Given the description of an element on the screen output the (x, y) to click on. 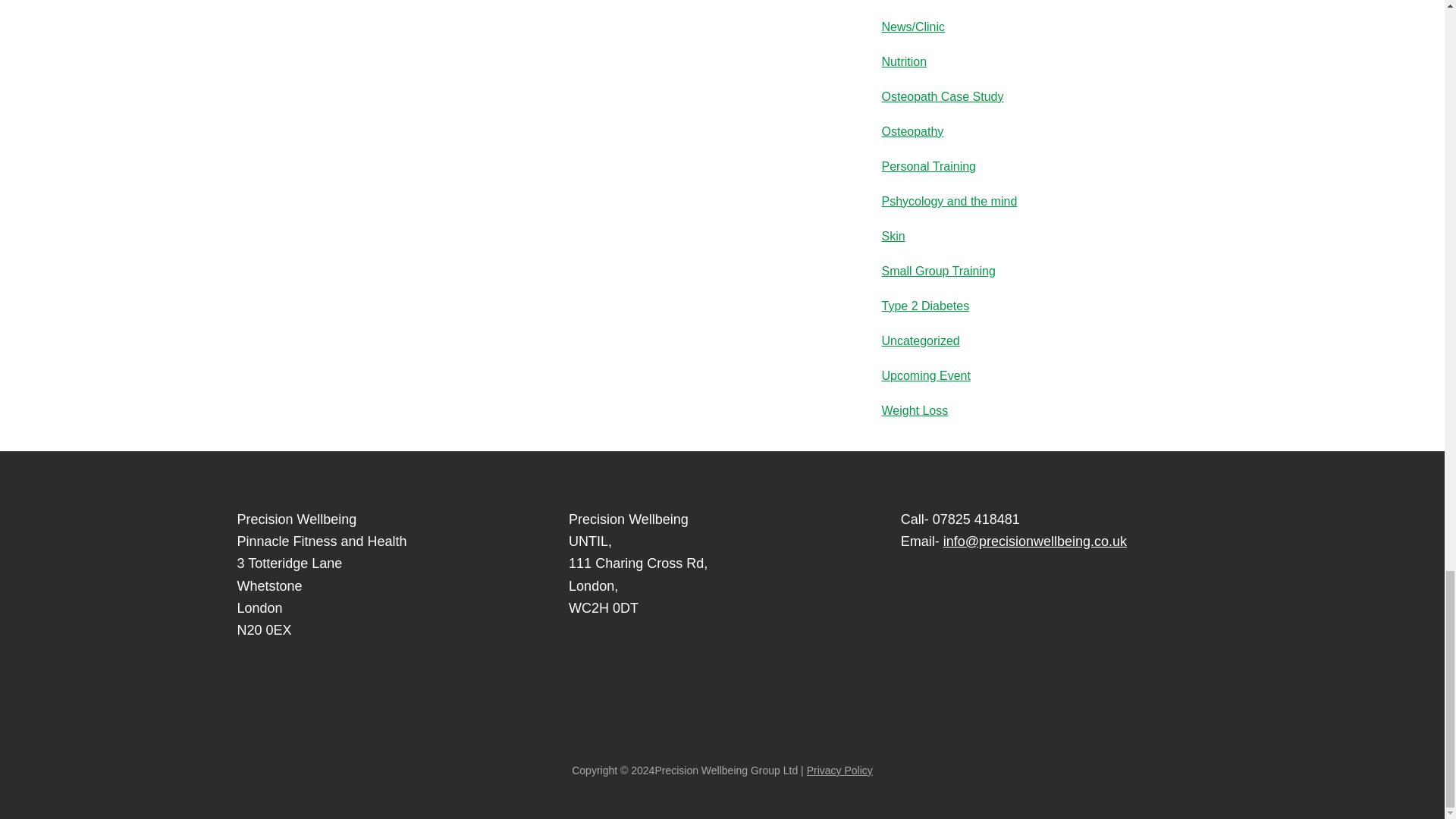
Osteopathy (911, 131)
Personal Training (927, 165)
Nutrition (903, 61)
Osteopath Case Study (941, 96)
